Given the description of an element on the screen output the (x, y) to click on. 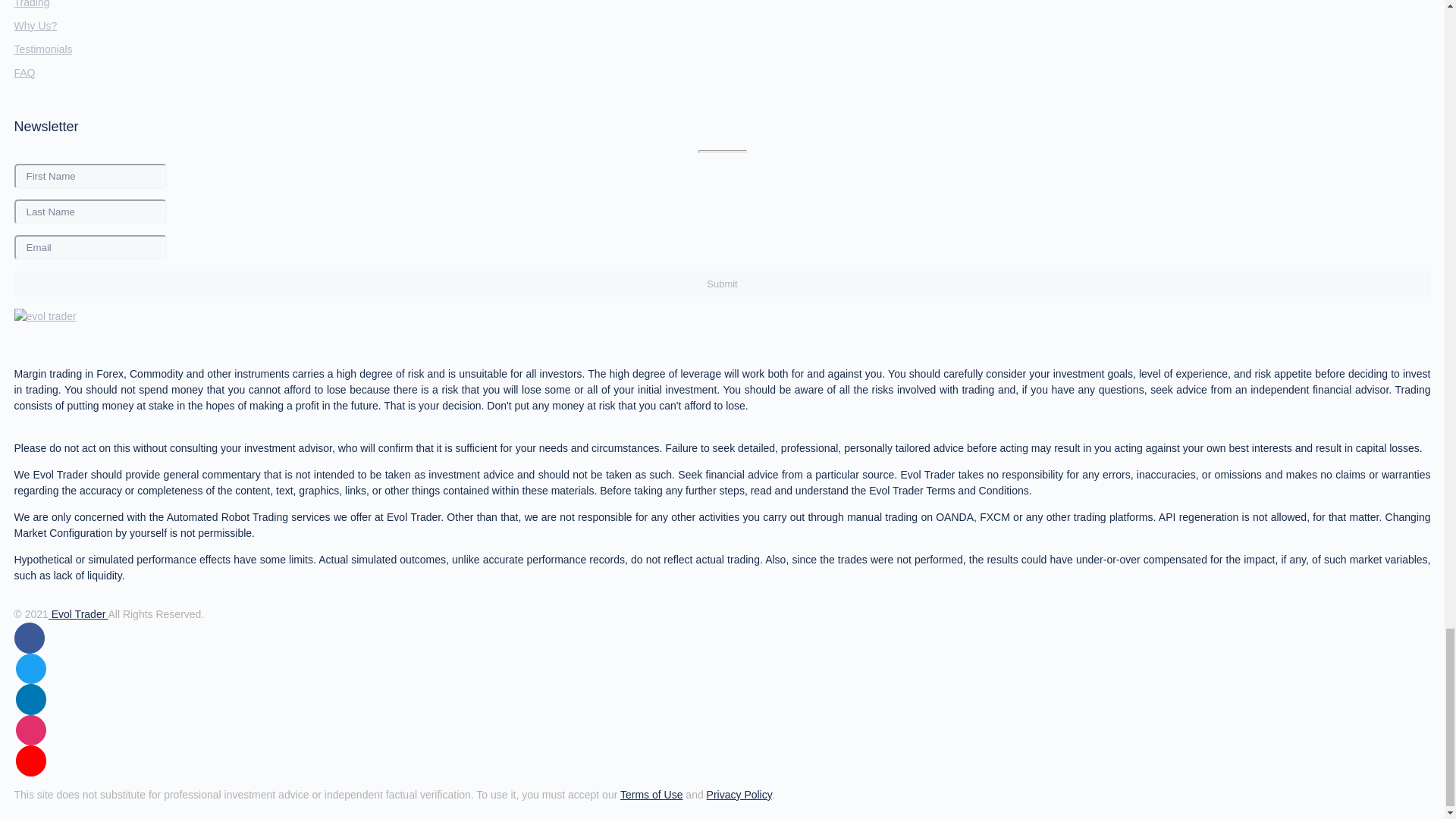
Privacy Policy (738, 794)
Submit (721, 284)
Testimonials (42, 49)
Why Us? (34, 25)
Trading (31, 4)
Terms of Use (651, 794)
Evol Trader (77, 613)
FAQ (23, 72)
